Given the description of an element on the screen output the (x, y) to click on. 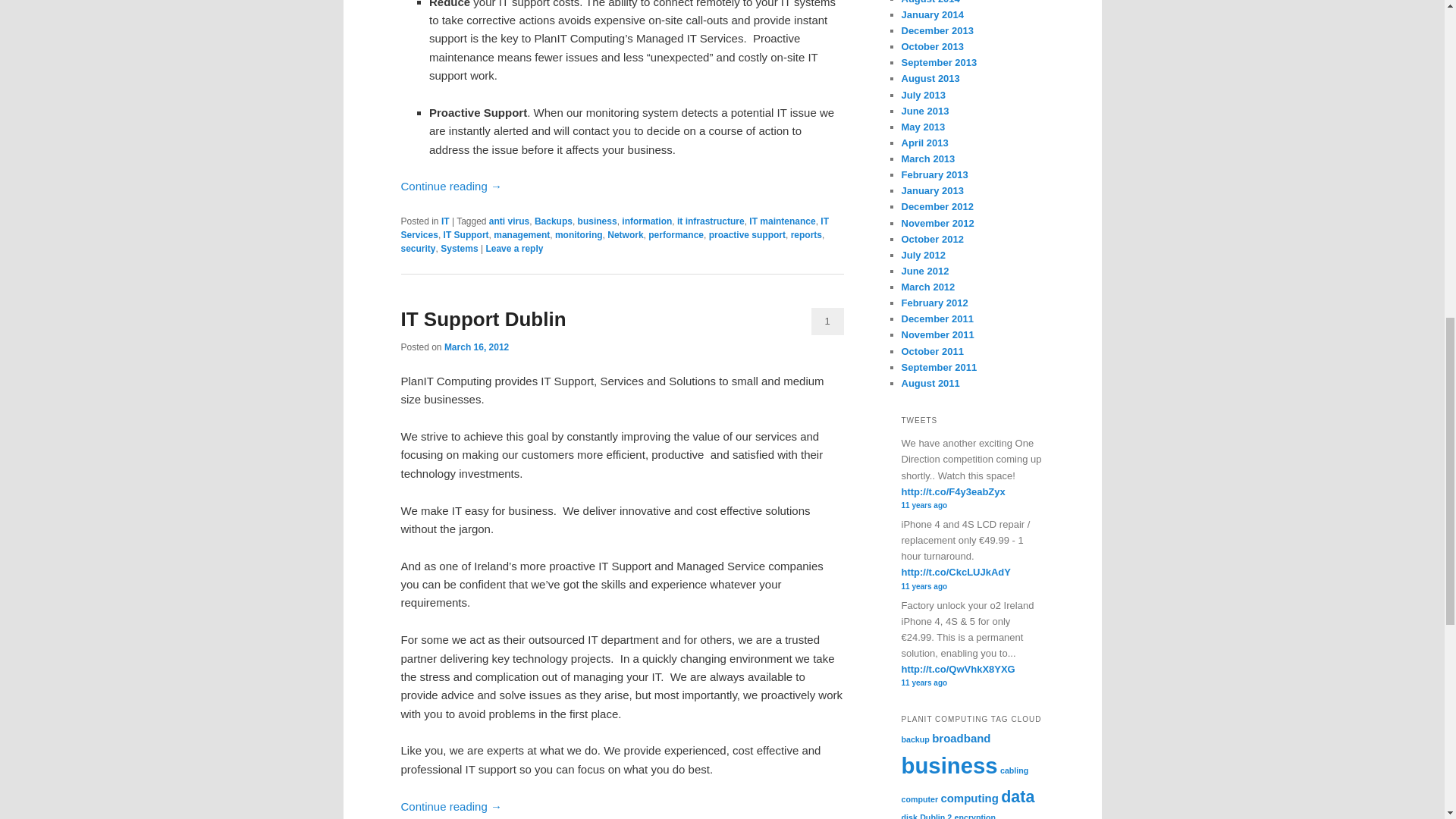
1 (827, 320)
reports (806, 235)
Network (625, 235)
IT Support (466, 235)
it infrastructure (710, 221)
monitoring (578, 235)
7:19 pm (476, 347)
information (646, 221)
IT Services (614, 228)
IT Support Dublin (483, 318)
anti virus (509, 221)
Systems (459, 248)
performance (675, 235)
Leave a reply (513, 248)
business (597, 221)
